Given the description of an element on the screen output the (x, y) to click on. 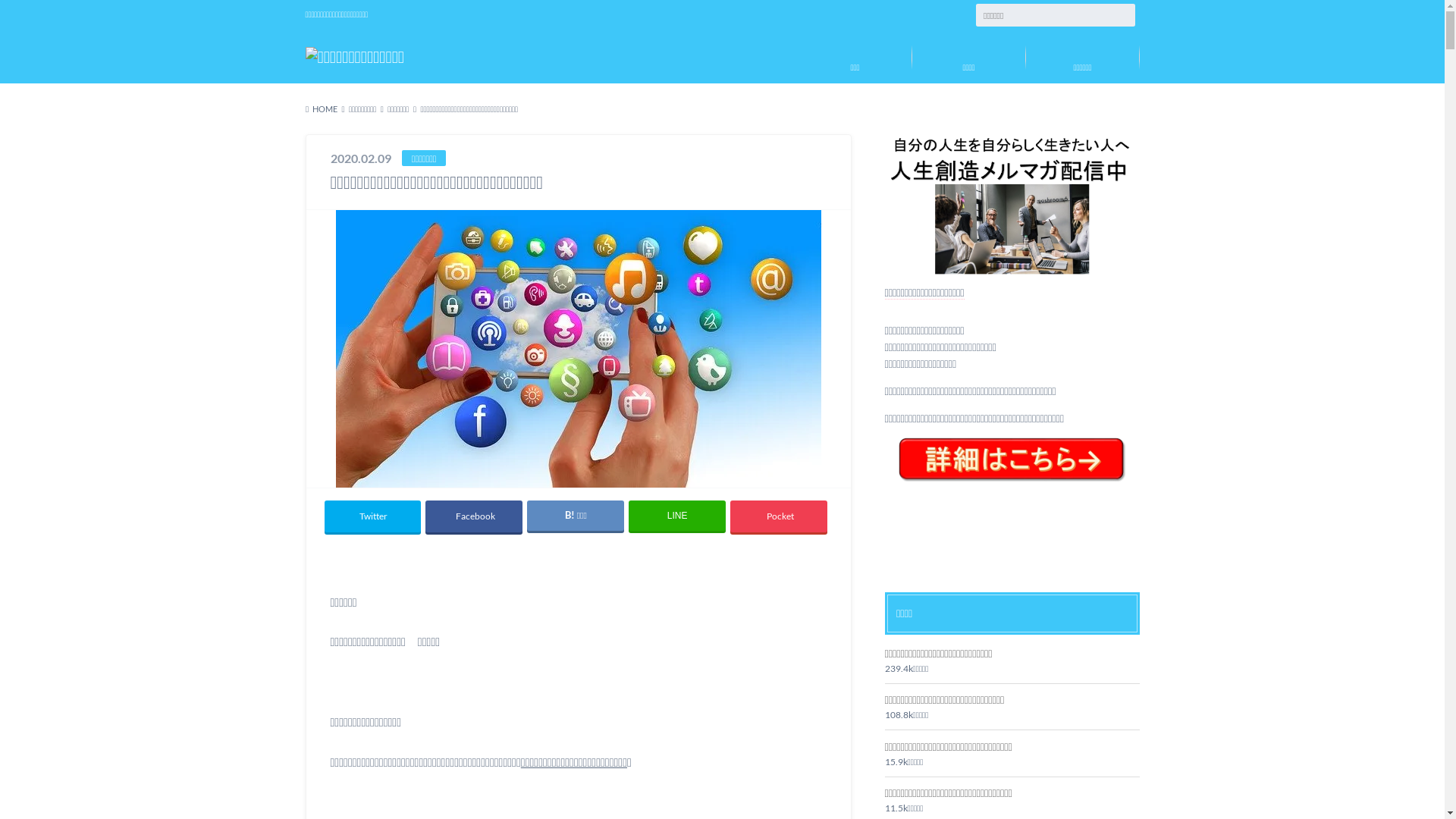
LINE Element type: text (676, 515)
Twitter Element type: text (372, 516)
HOME Element type: text (320, 108)
Pocket Element type: text (778, 516)
Facebook Element type: text (473, 516)
